Given the description of an element on the screen output the (x, y) to click on. 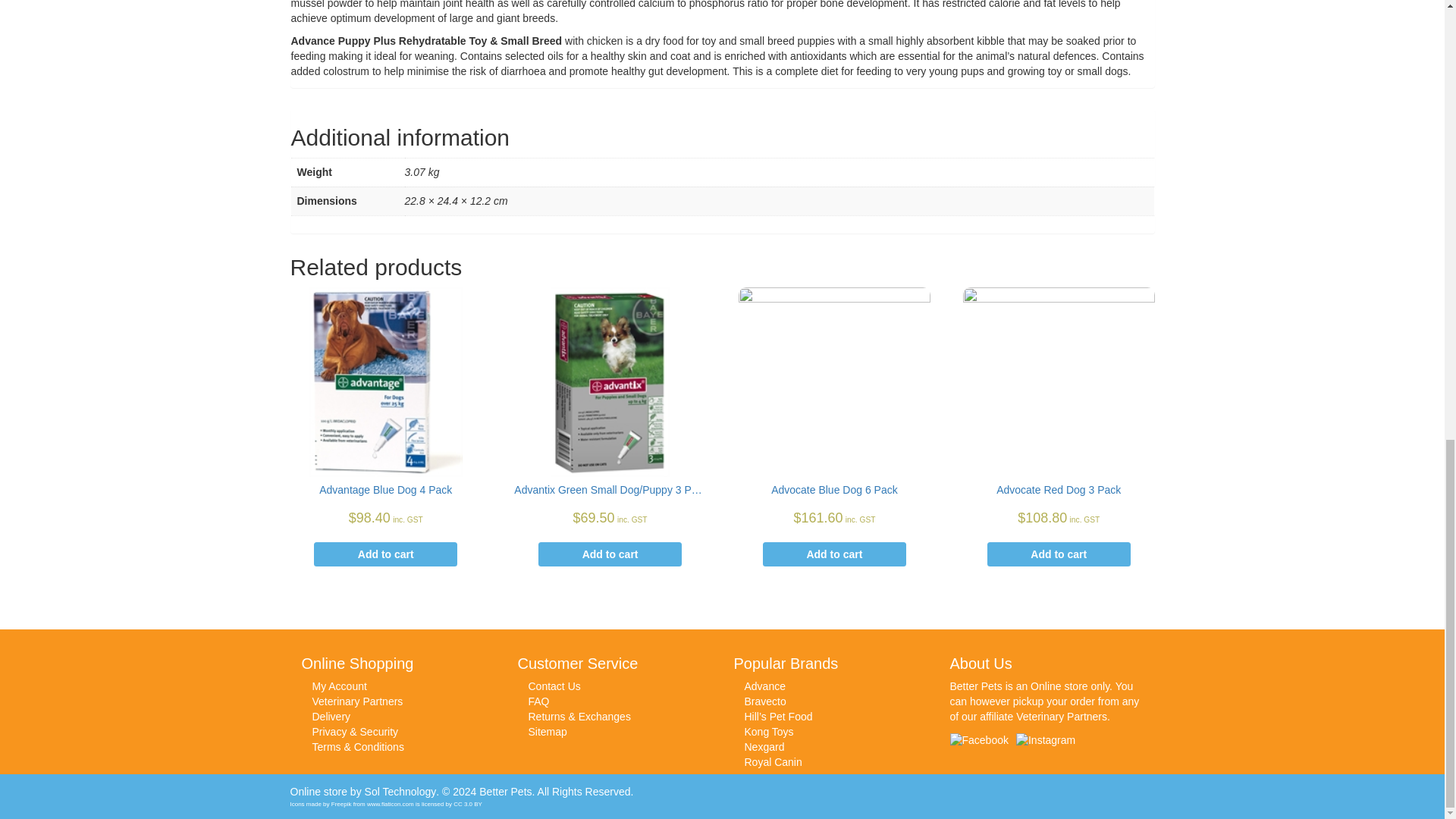
Flaticon (389, 803)
Freepik (341, 803)
Creative Commons BY 3.0 (466, 803)
